Given the description of an element on the screen output the (x, y) to click on. 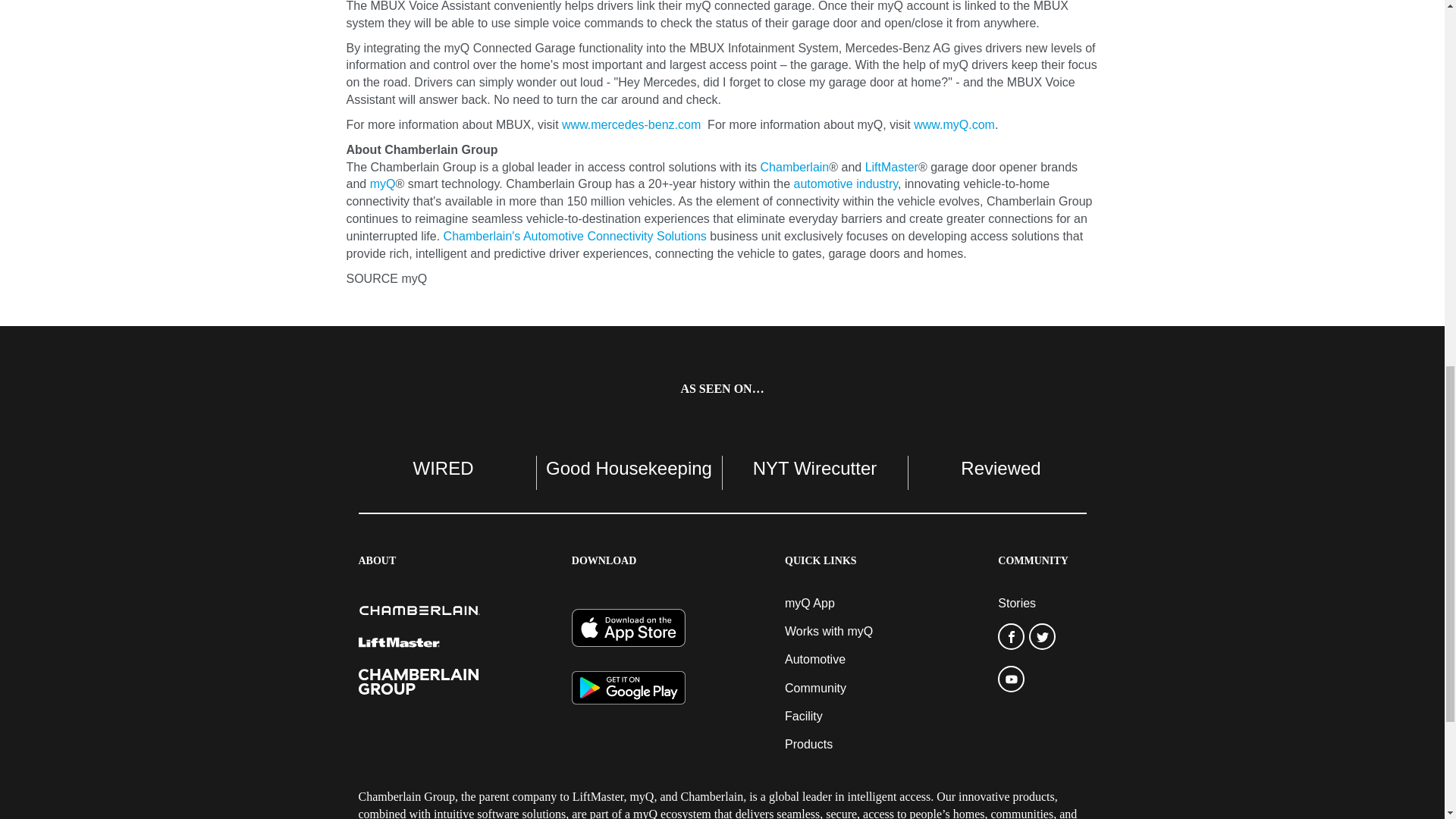
Reviewed (1000, 467)
Chamberlain's Automotive Connectivity Solutions (575, 236)
www.mercedes-benz.com (631, 124)
automotive industry (845, 183)
www.myQ.com (954, 124)
LiftMaster (891, 166)
WIRED (442, 467)
myQ (382, 183)
Chamberlain (794, 166)
Good Housekeeping (628, 467)
